Given the description of an element on the screen output the (x, y) to click on. 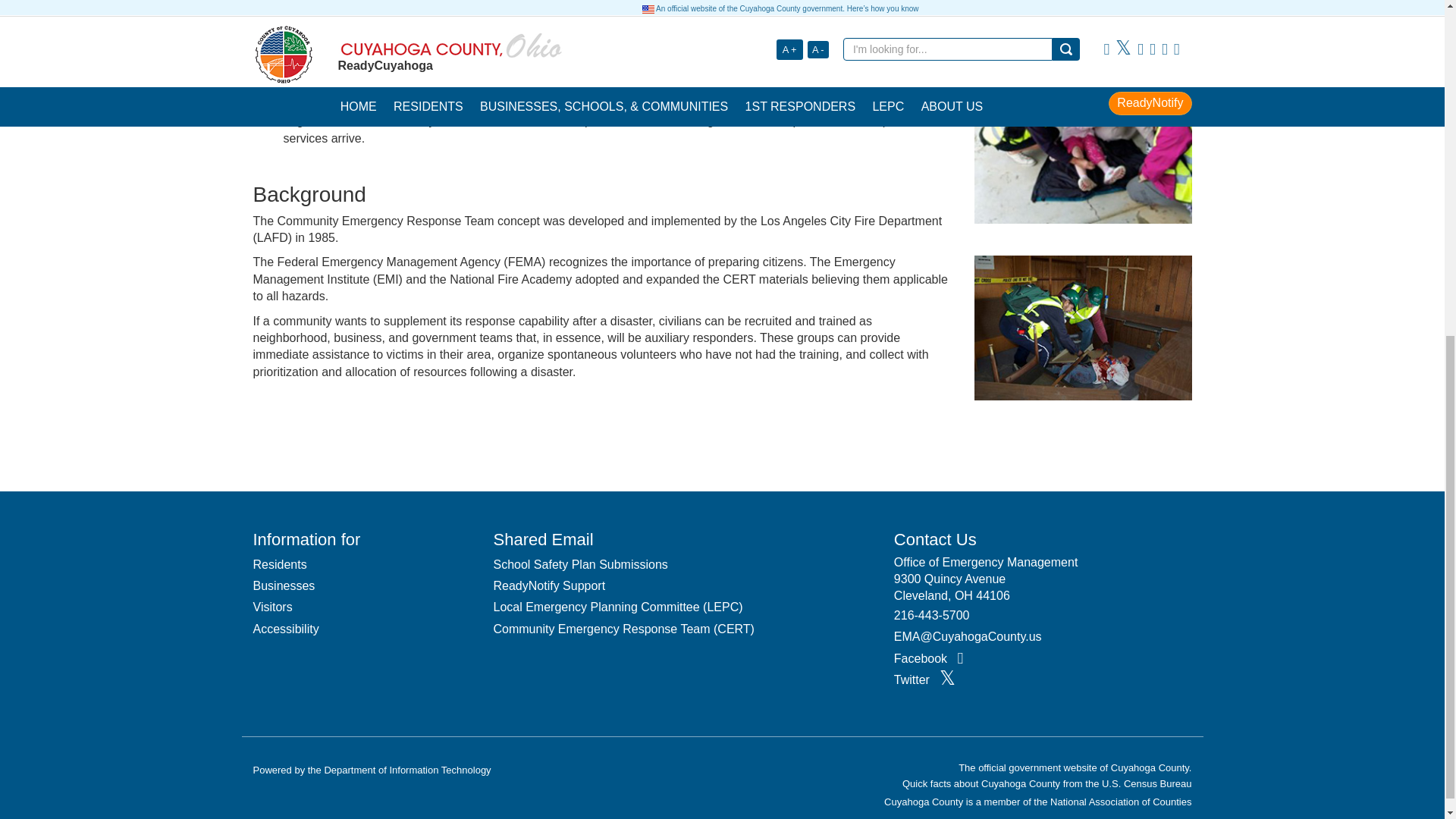
School Safety Plan Submissions (579, 564)
Facebook (927, 658)
Facebook    (927, 658)
Accessibility (285, 629)
216-443-5700 (931, 615)
CERTAid (1082, 111)
Twitter (924, 679)
ReadyNotify Support (549, 586)
CERTTraining (1082, 327)
Visitors (272, 606)
Residents (280, 564)
Businesses (284, 586)
